Given the description of an element on the screen output the (x, y) to click on. 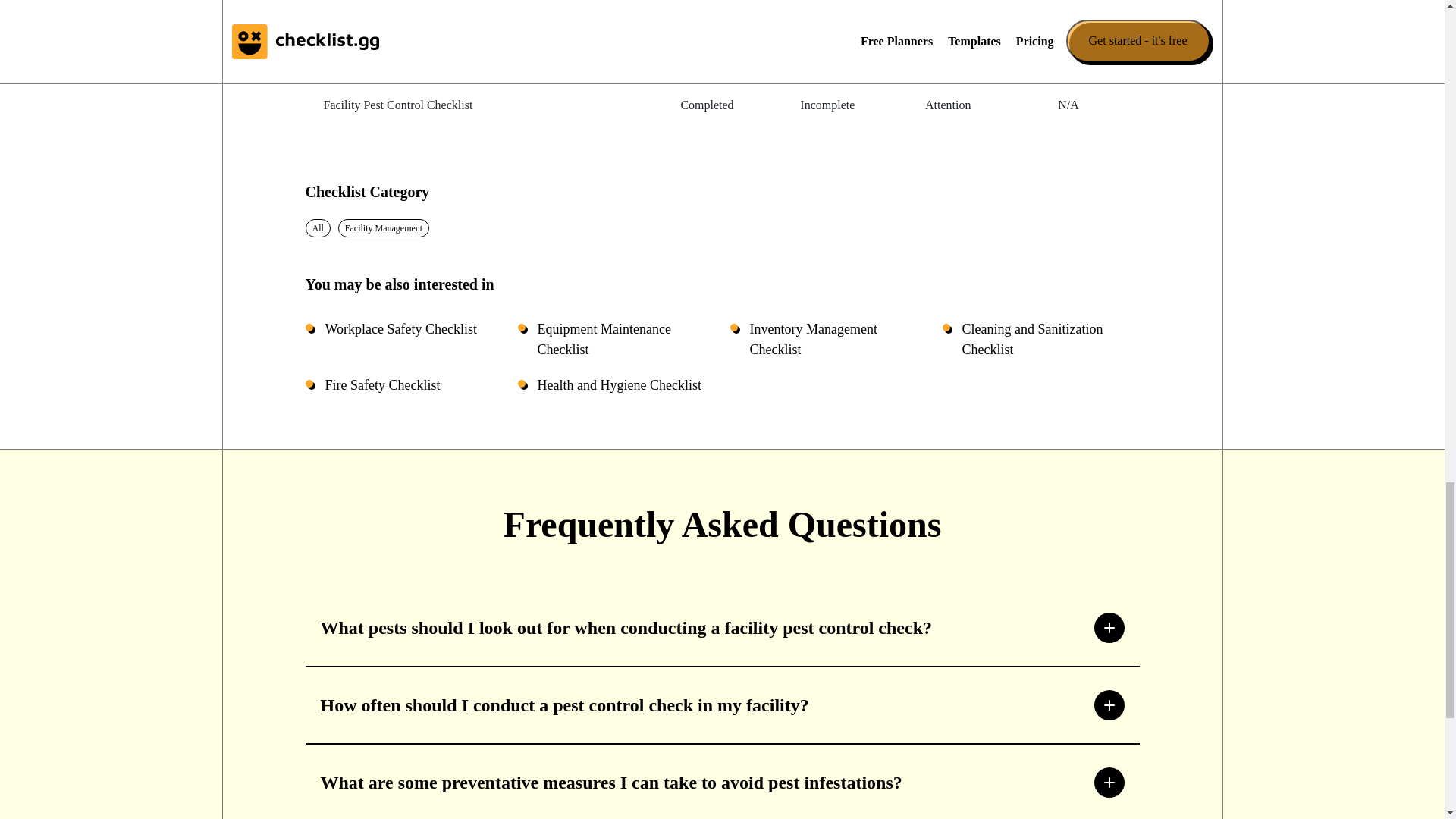
See Instructions (360, 106)
See Instructions (360, 3)
Facility Management (383, 228)
All (317, 228)
